Given the description of an element on the screen output the (x, y) to click on. 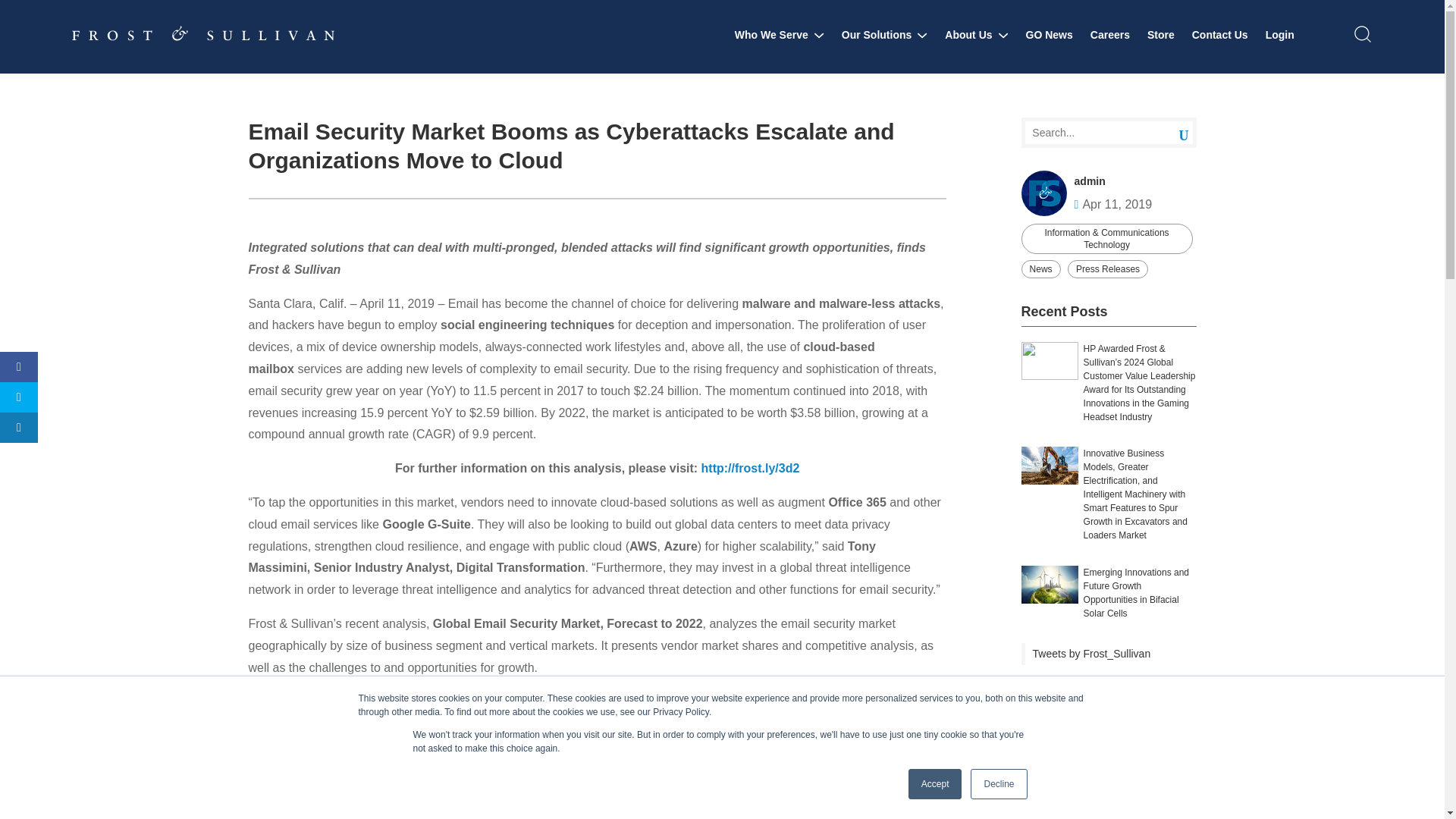
Decline (998, 784)
Search (1172, 132)
Who We Serve (779, 35)
Accept (935, 784)
